Given the description of an element on the screen output the (x, y) to click on. 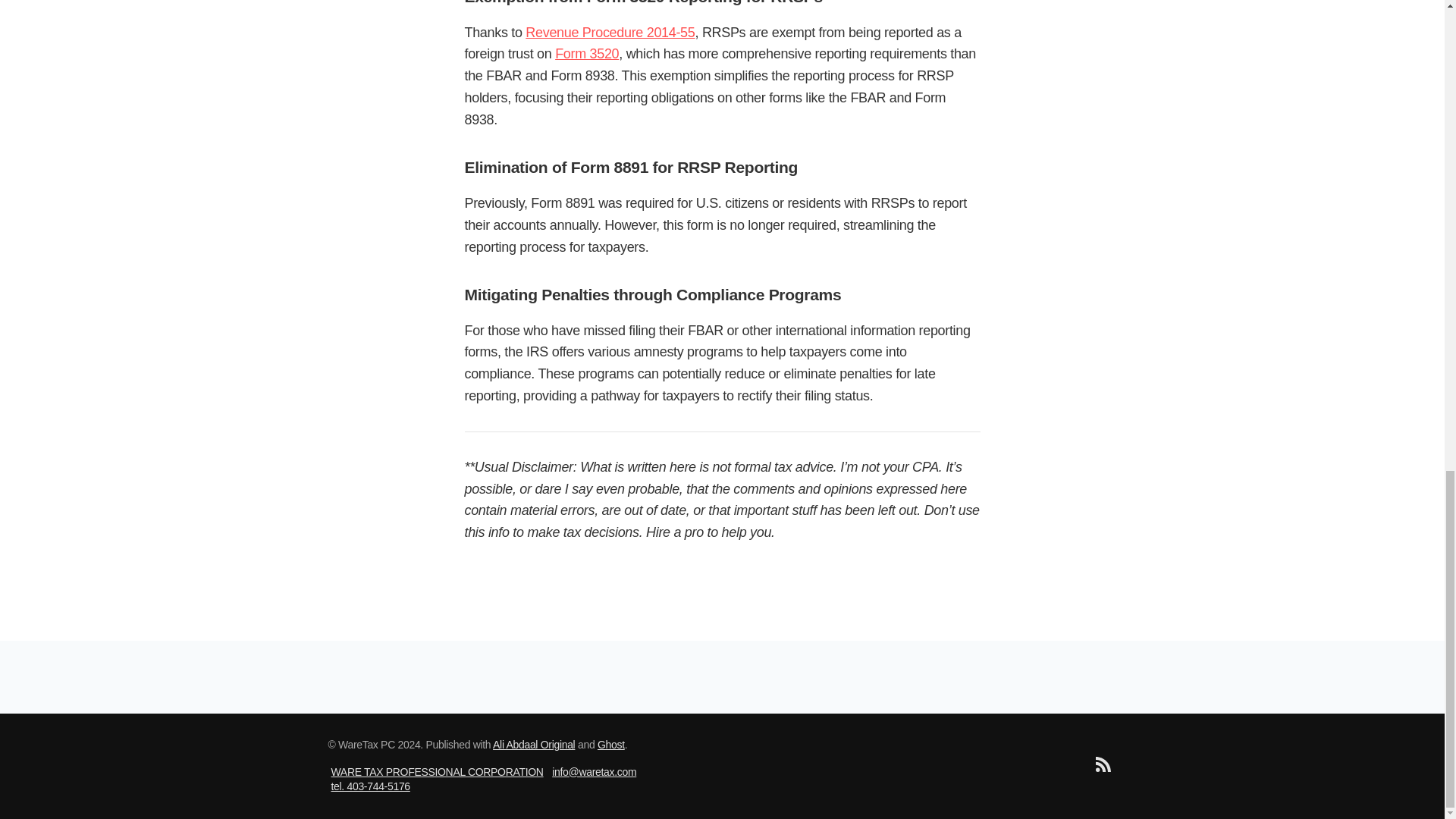
Ghost (610, 744)
Ali Abdaal Original (534, 744)
Form 3520 (586, 53)
Ghost (610, 744)
Ali Abdaal Original theme by Super Themes Co. (534, 744)
WARE TAX PROFESSIONAL CORPORATION (436, 771)
RSS (1101, 767)
Revenue Procedure 2014-55 (609, 32)
tel. 403-744-5176 (369, 786)
